Given the description of an element on the screen output the (x, y) to click on. 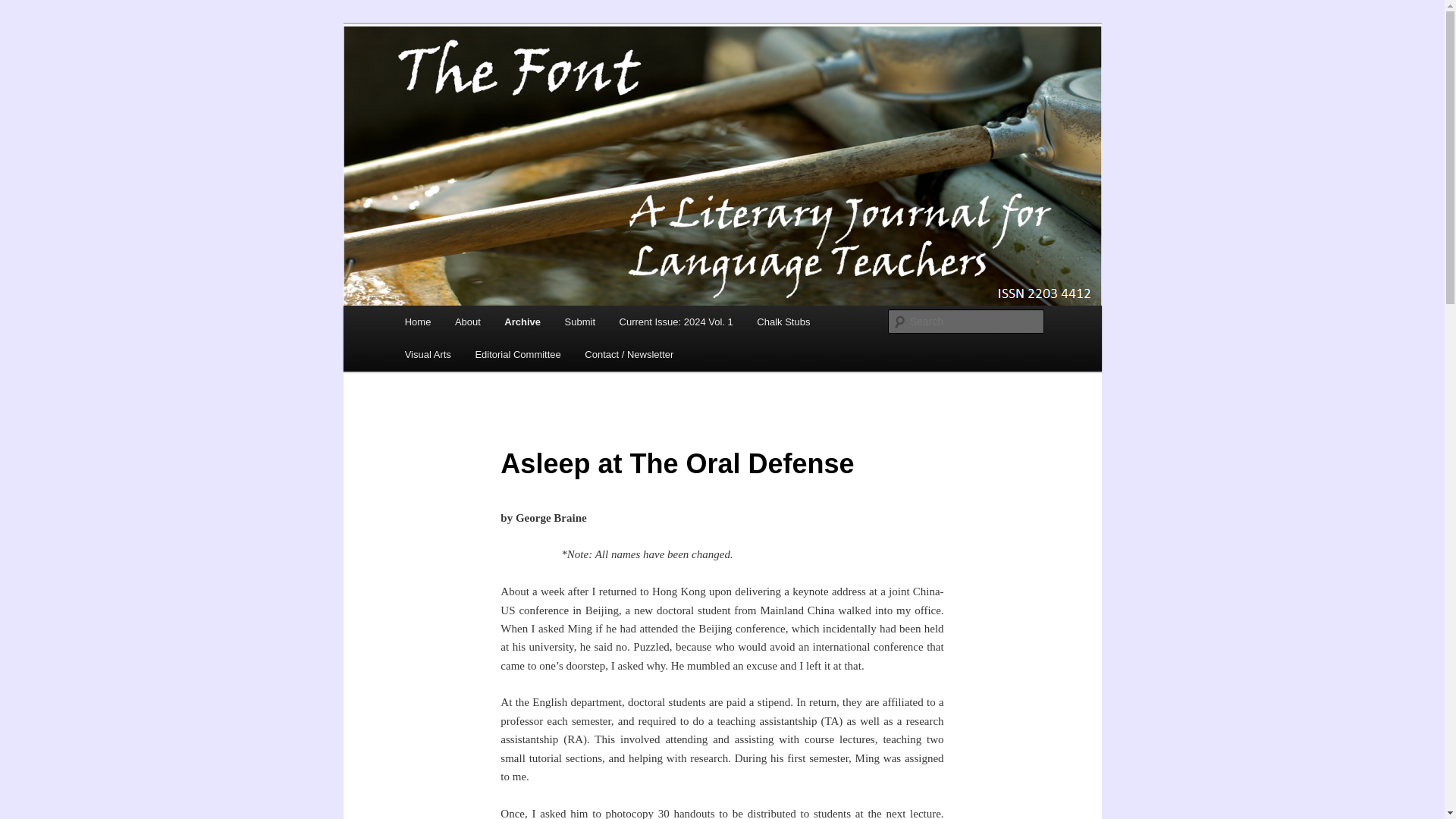
About (467, 321)
The Font (448, 78)
Search (24, 8)
Archive (523, 321)
Home (417, 321)
